Given the description of an element on the screen output the (x, y) to click on. 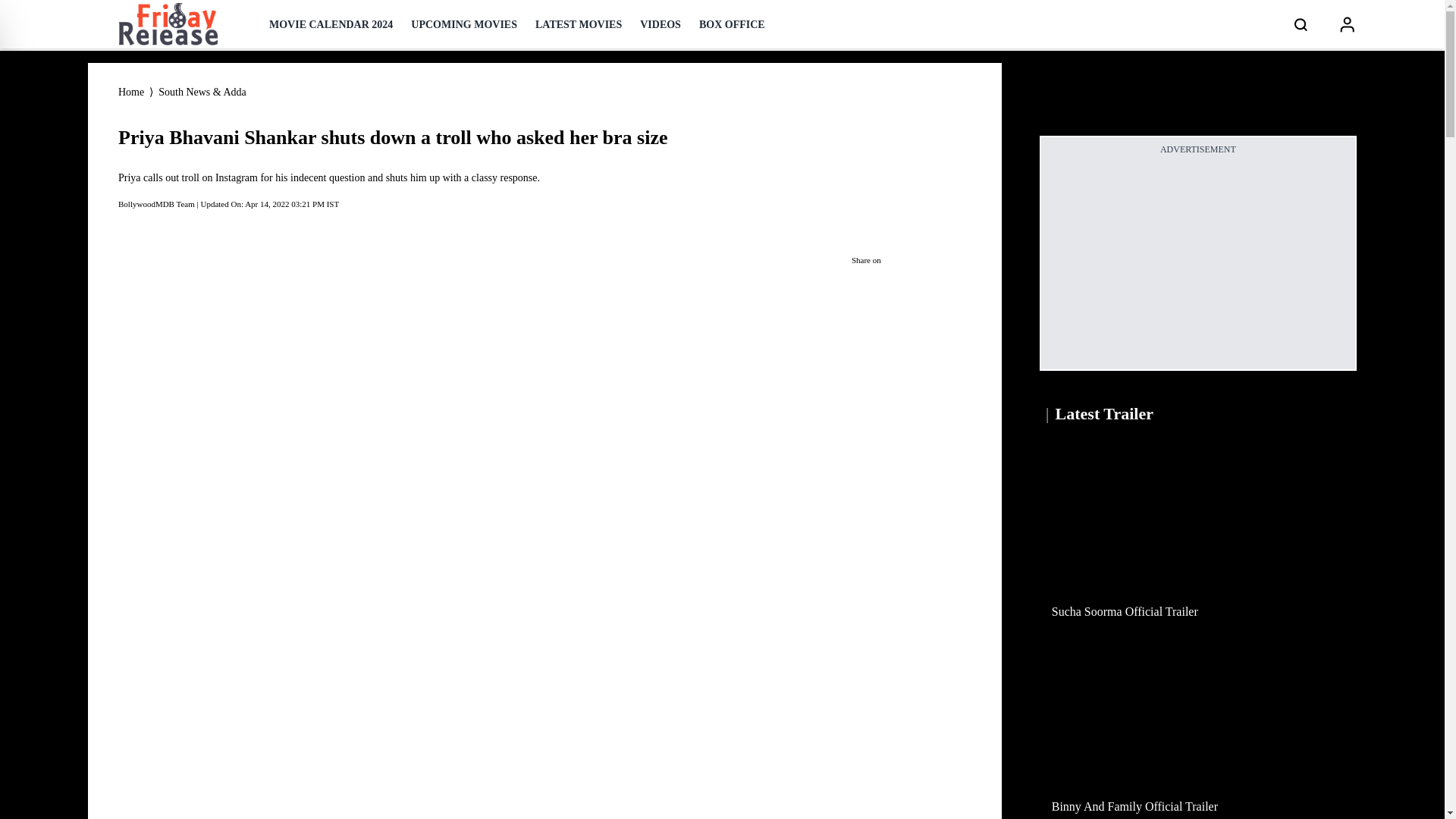
BOX OFFICE (731, 24)
Share on (905, 259)
VIDEOS (660, 24)
LATEST MOVIES (578, 24)
UPCOMING MOVIES (463, 24)
MOVIE CALENDAR 2024 (331, 24)
